Given the description of an element on the screen output the (x, y) to click on. 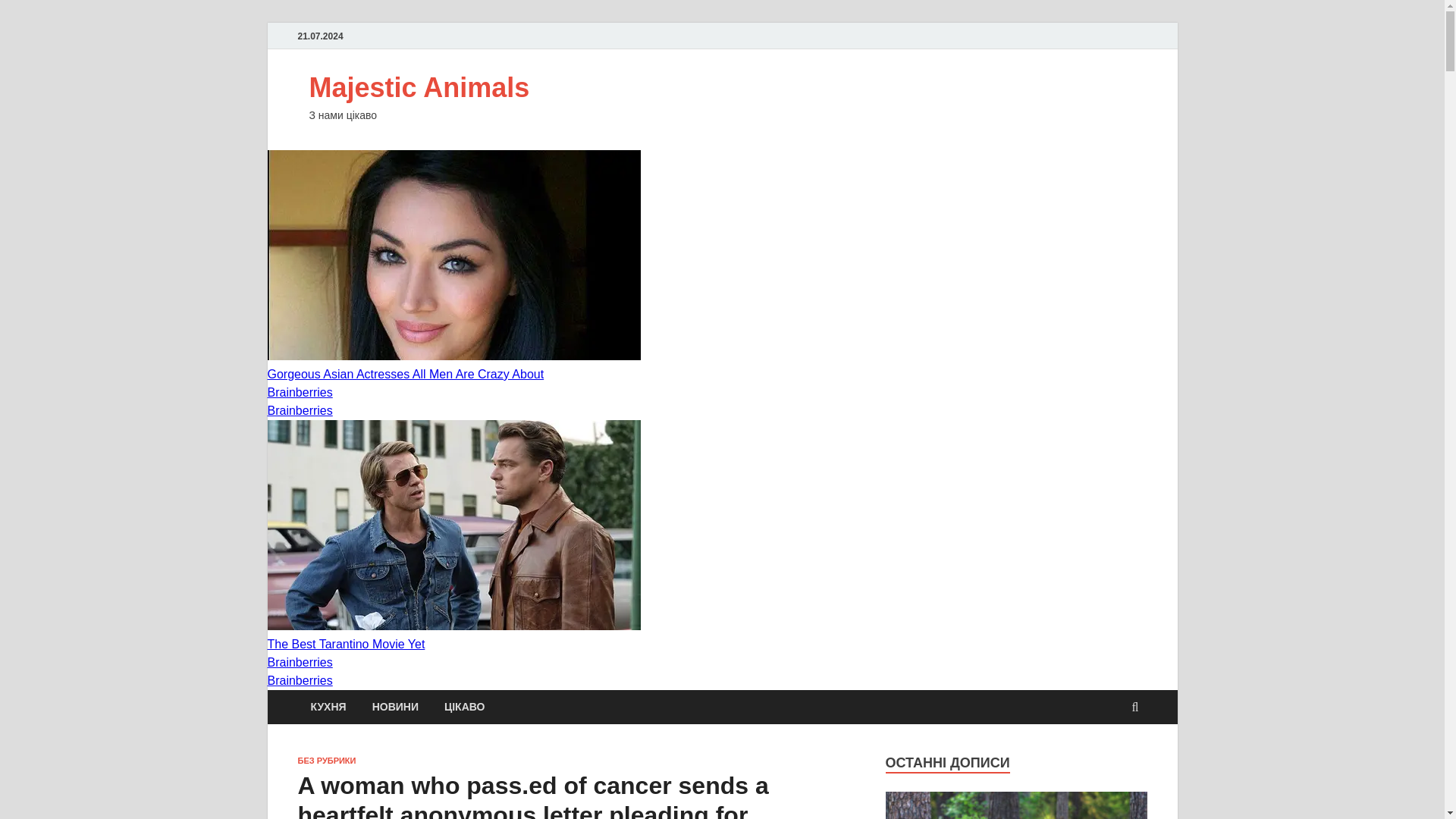
Majestic Animals (418, 87)
